Given the description of an element on the screen output the (x, y) to click on. 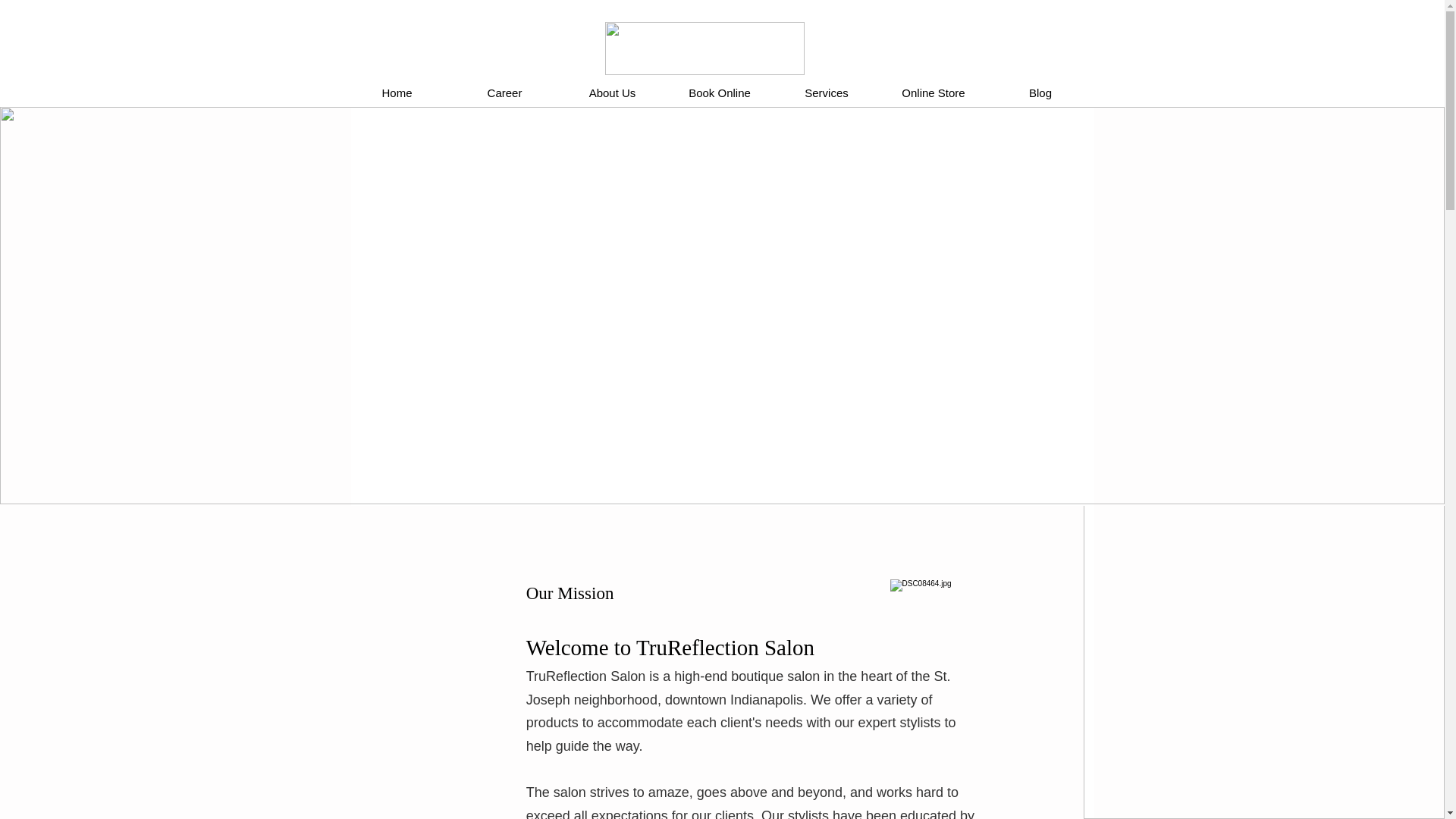
Career (503, 93)
Services (826, 93)
Online Store (933, 93)
Blog (1040, 93)
Home (395, 93)
Book Online (719, 93)
About Us (611, 93)
